Given the description of an element on the screen output the (x, y) to click on. 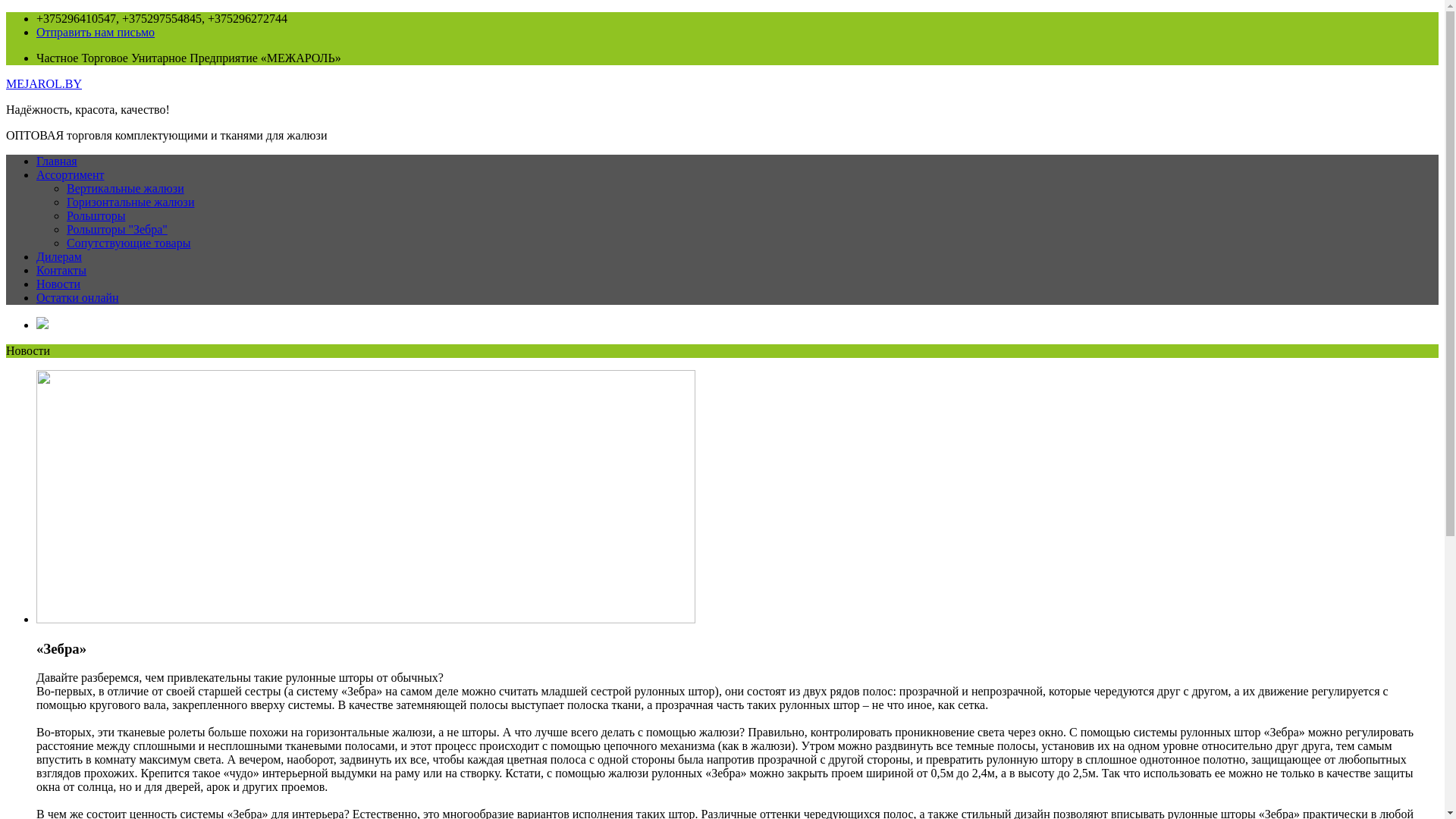
MEJAROL.BY Element type: text (43, 83)
